Given the description of an element on the screen output the (x, y) to click on. 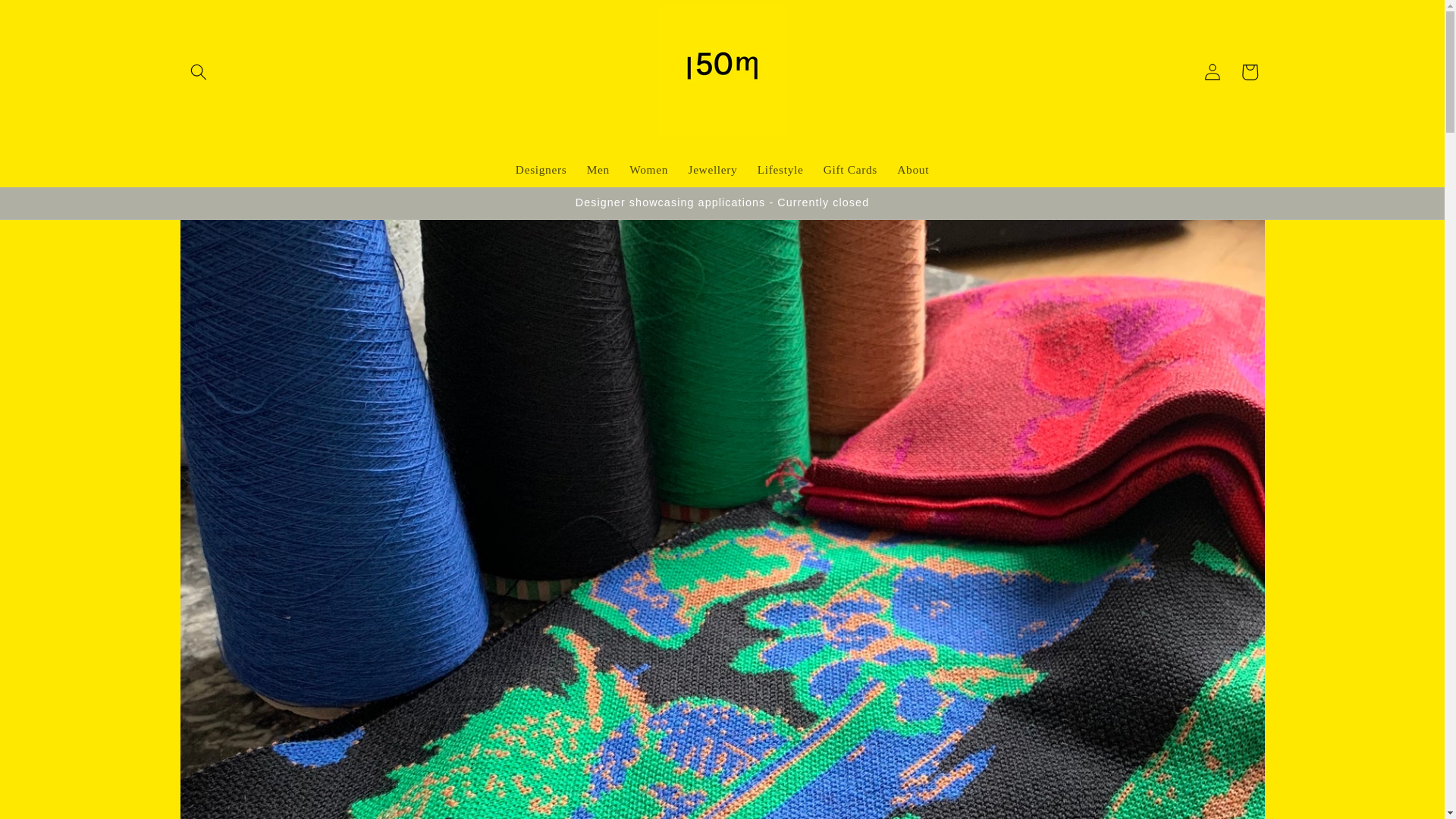
Gift Cards (850, 169)
Designers (540, 169)
About (912, 169)
Cart (1249, 72)
Women (649, 169)
Lifestyle (780, 169)
Log in (1211, 72)
Men (598, 169)
Jewellery (712, 169)
Skip to content (50, 19)
